Given the description of an element on the screen output the (x, y) to click on. 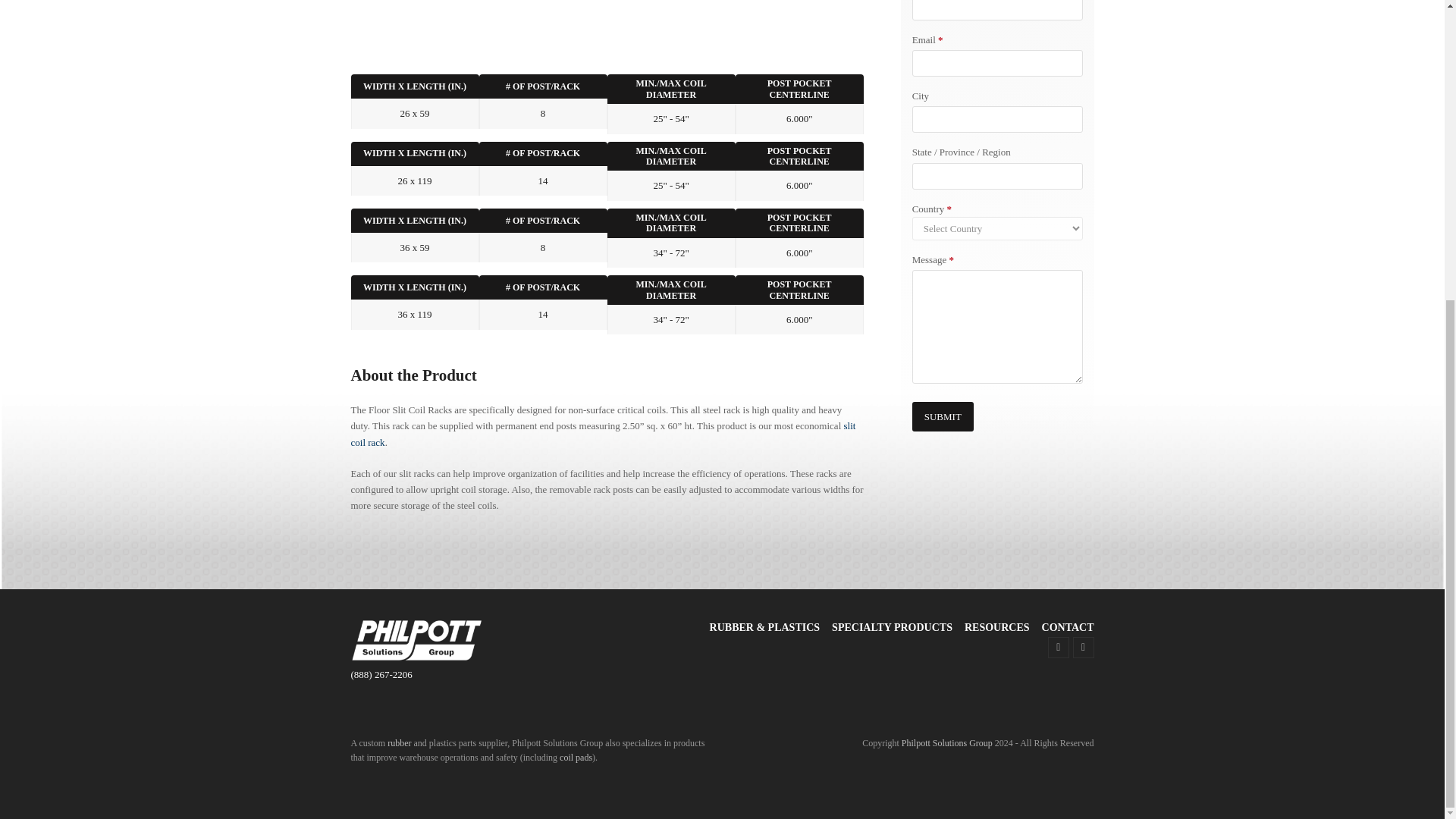
Submit (943, 416)
YouTube (1083, 647)
LinkedIn (1058, 647)
